Given the description of an element on the screen output the (x, y) to click on. 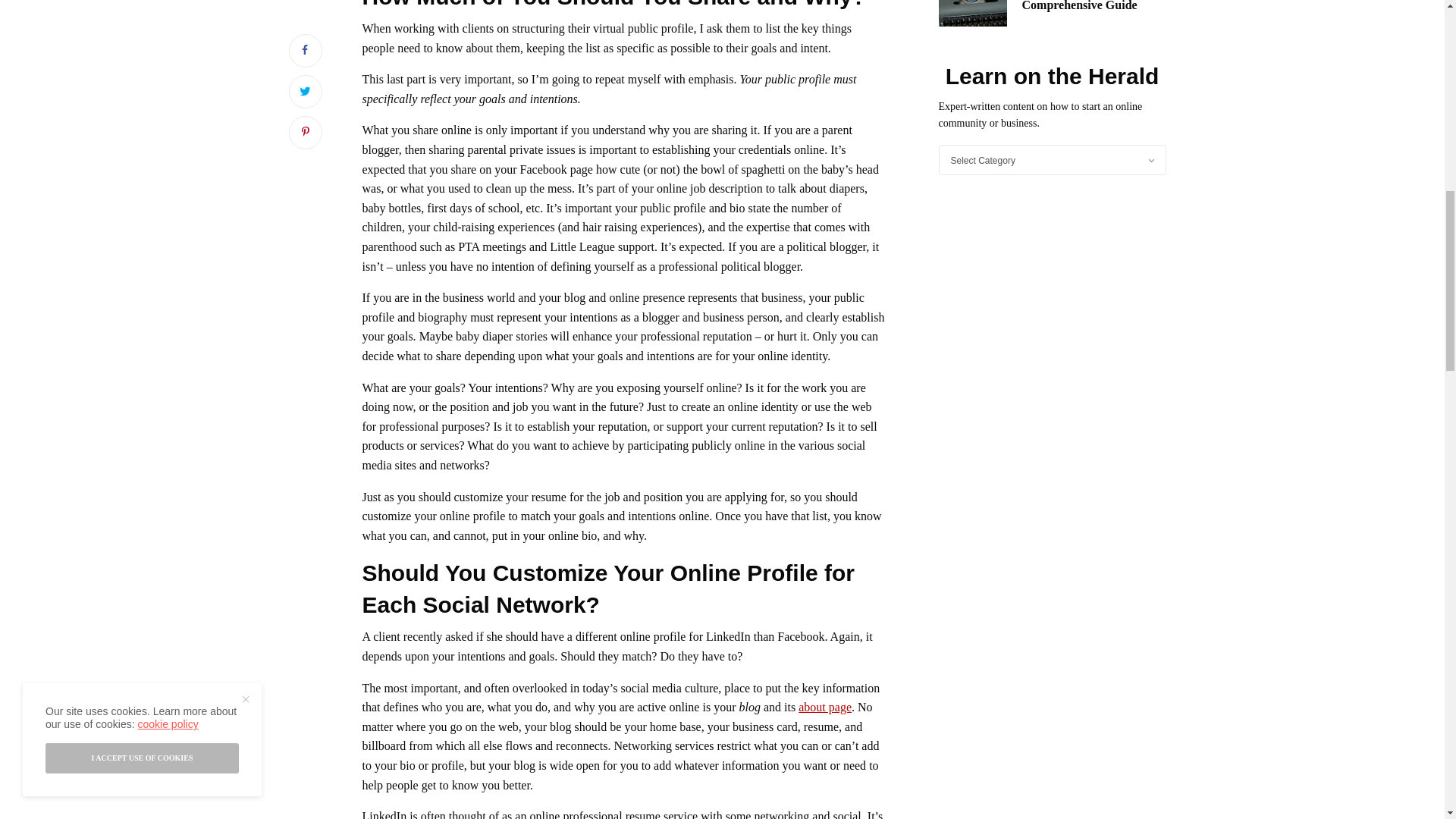
about page (824, 707)
Who The Hell Are You? (824, 707)
